Given the description of an element on the screen output the (x, y) to click on. 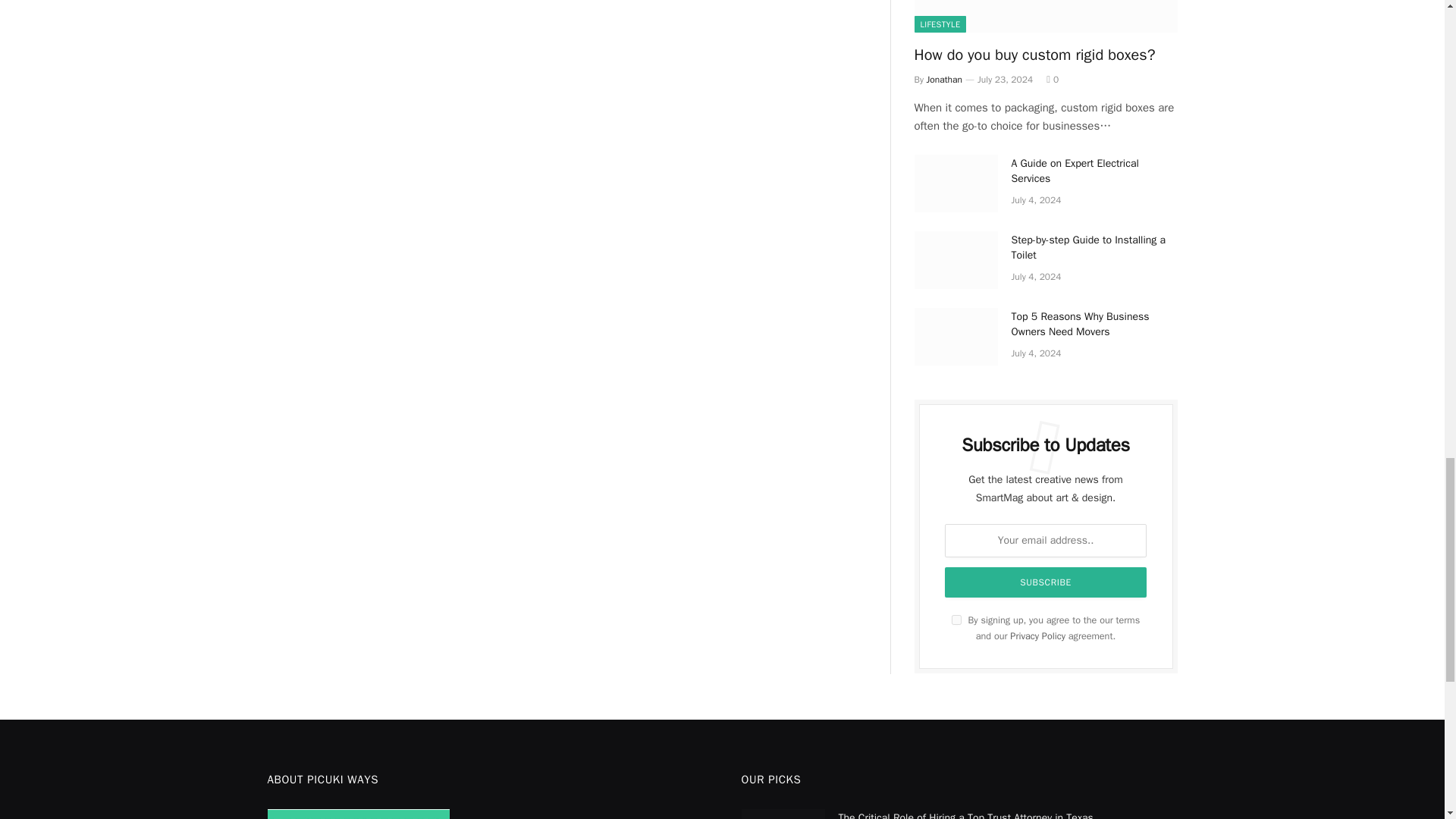
on (956, 619)
Subscribe (1045, 582)
